Given the description of an element on the screen output the (x, y) to click on. 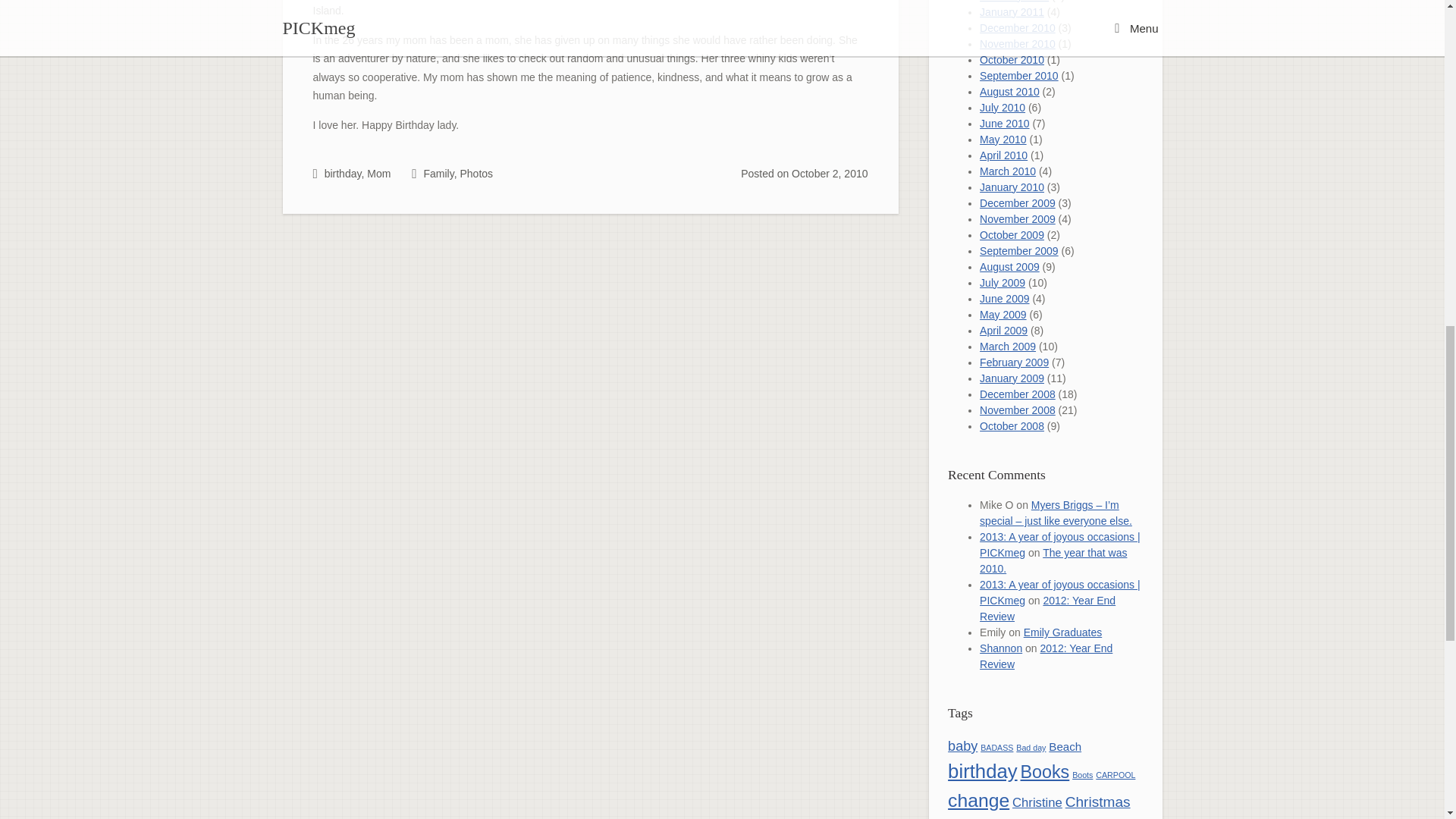
16 topics (982, 771)
6:19 pm (829, 173)
October 2, 2010 (829, 173)
birthday (342, 173)
Family (437, 173)
12 topics (1045, 772)
6 topics (961, 745)
Photos (476, 173)
2 topics (1030, 747)
Mom (378, 173)
4 topics (1064, 746)
2 topics (1115, 774)
2 topics (996, 747)
2 topics (1082, 774)
